Given the description of an element on the screen output the (x, y) to click on. 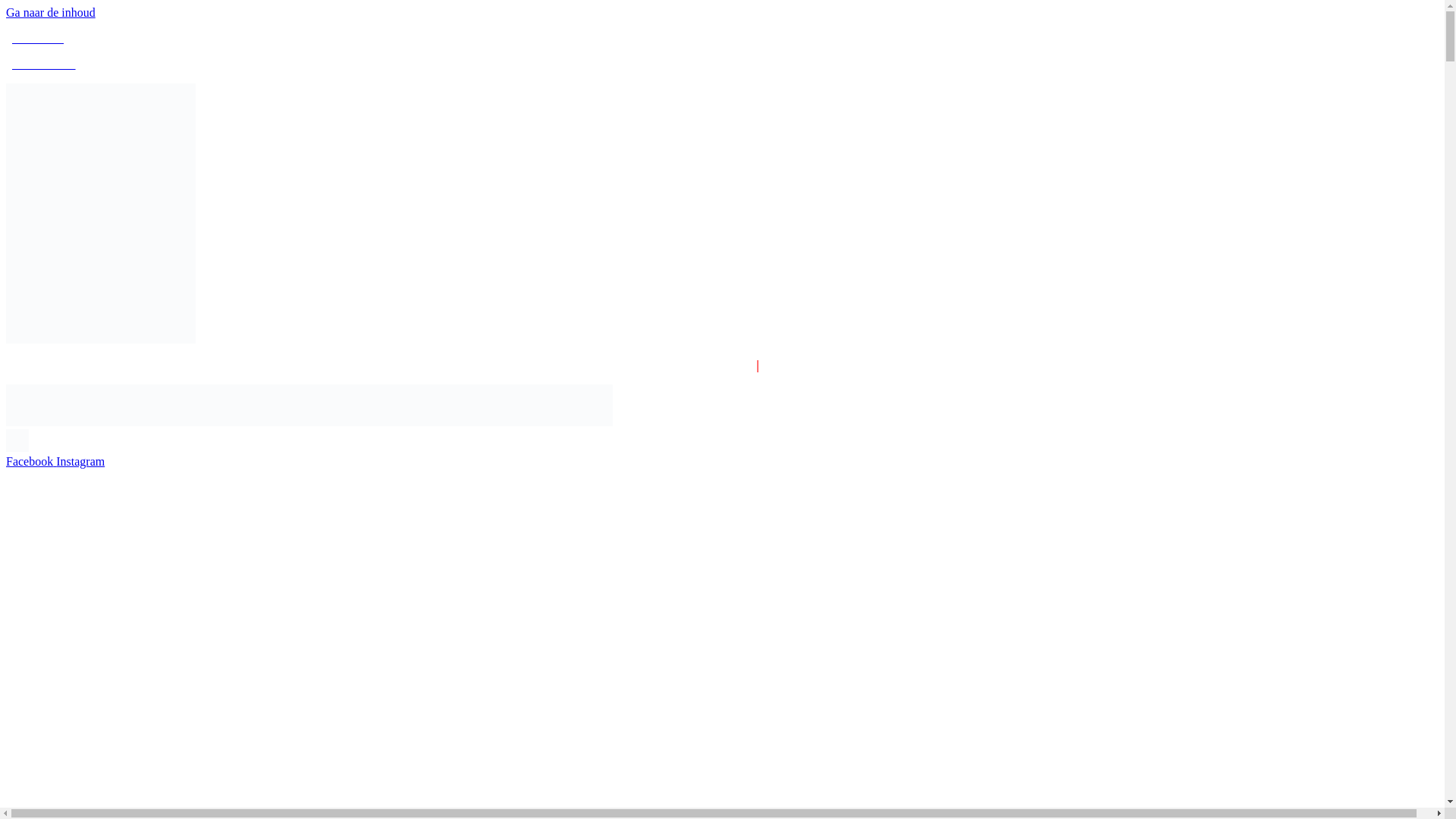
040 820 0020 (801, 364)
Ga naar de inhoud (50, 11)
 MAIL ONS (43, 63)
Facebook (30, 461)
BEL ONS (37, 38)
Instagram (80, 461)
